Given the description of an element on the screen output the (x, y) to click on. 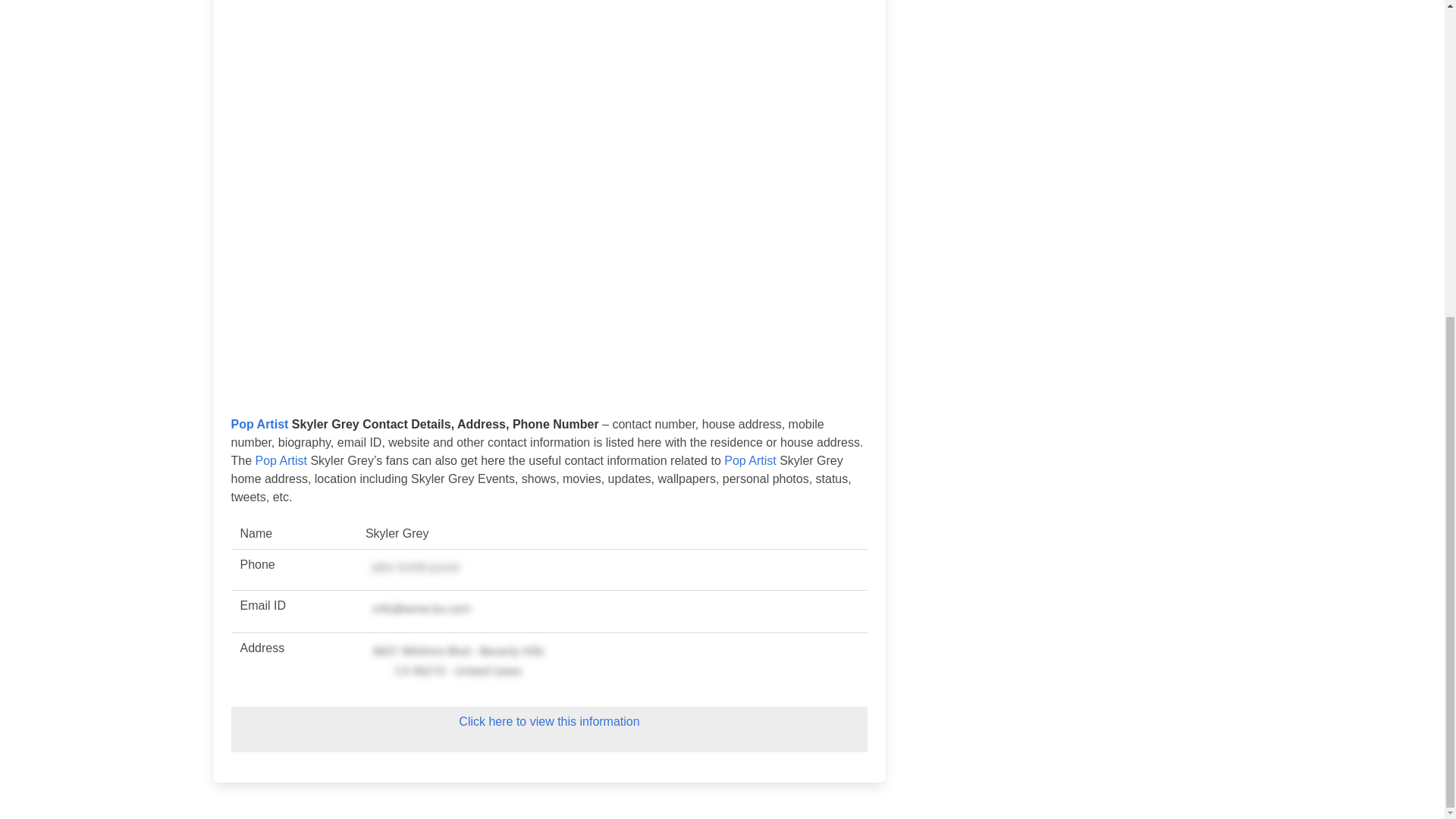
Pop Artist (749, 460)
Pop Artist (281, 460)
Click here to view this information (548, 721)
Pop Artist (259, 423)
